Given the description of an element on the screen output the (x, y) to click on. 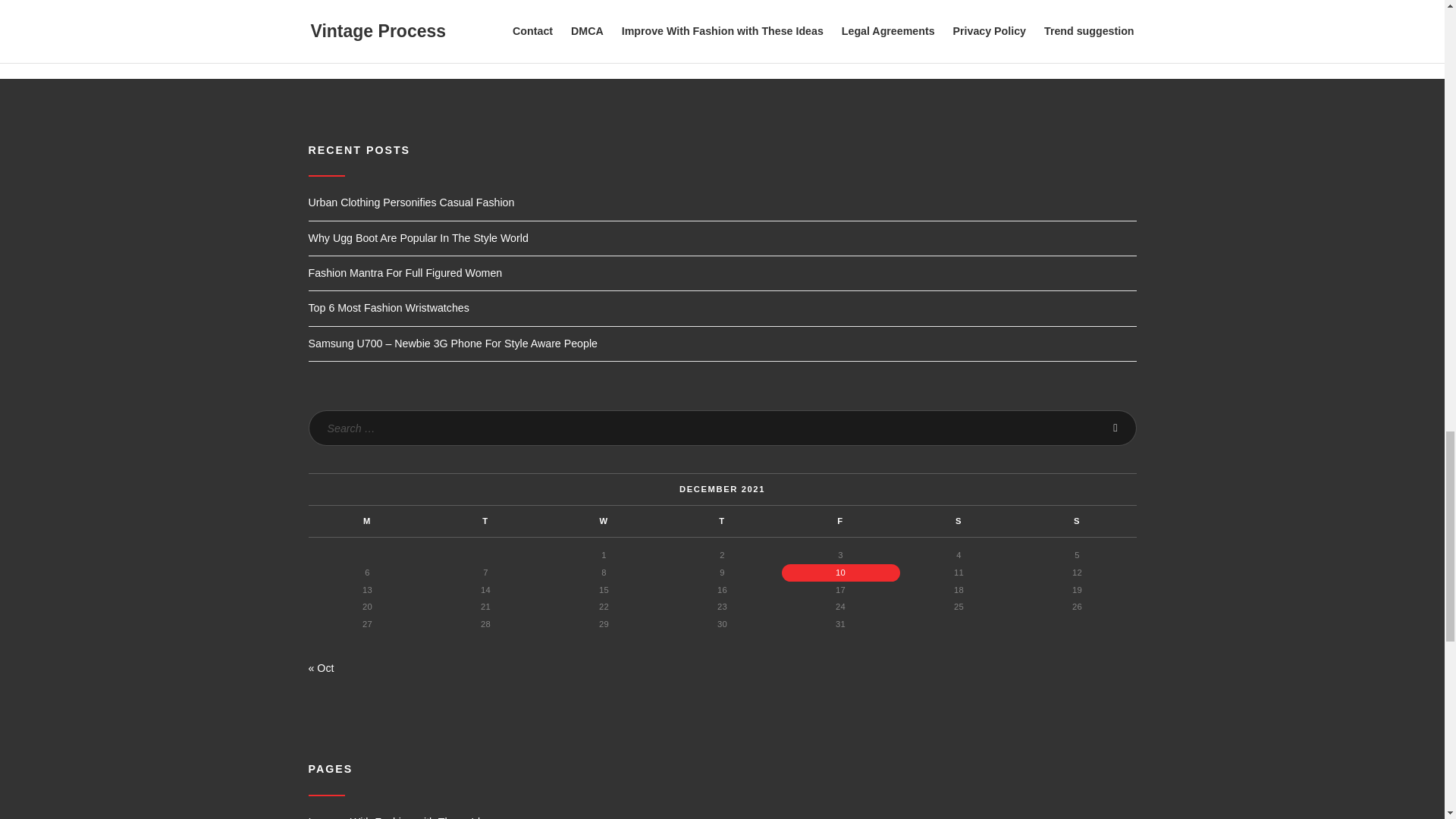
Fashion Mantra For Full Figured Women (404, 272)
Saturday (958, 521)
Wednesday (603, 521)
Top 6 Most Fashion Wristwatches (387, 307)
Why Ugg Boot Are Popular In The Style World (417, 237)
Friday (839, 521)
Tuesday (485, 521)
Thursday (721, 521)
Monday (366, 521)
Urban Clothing Personifies Casual Fashion (410, 202)
